Given the description of an element on the screen output the (x, y) to click on. 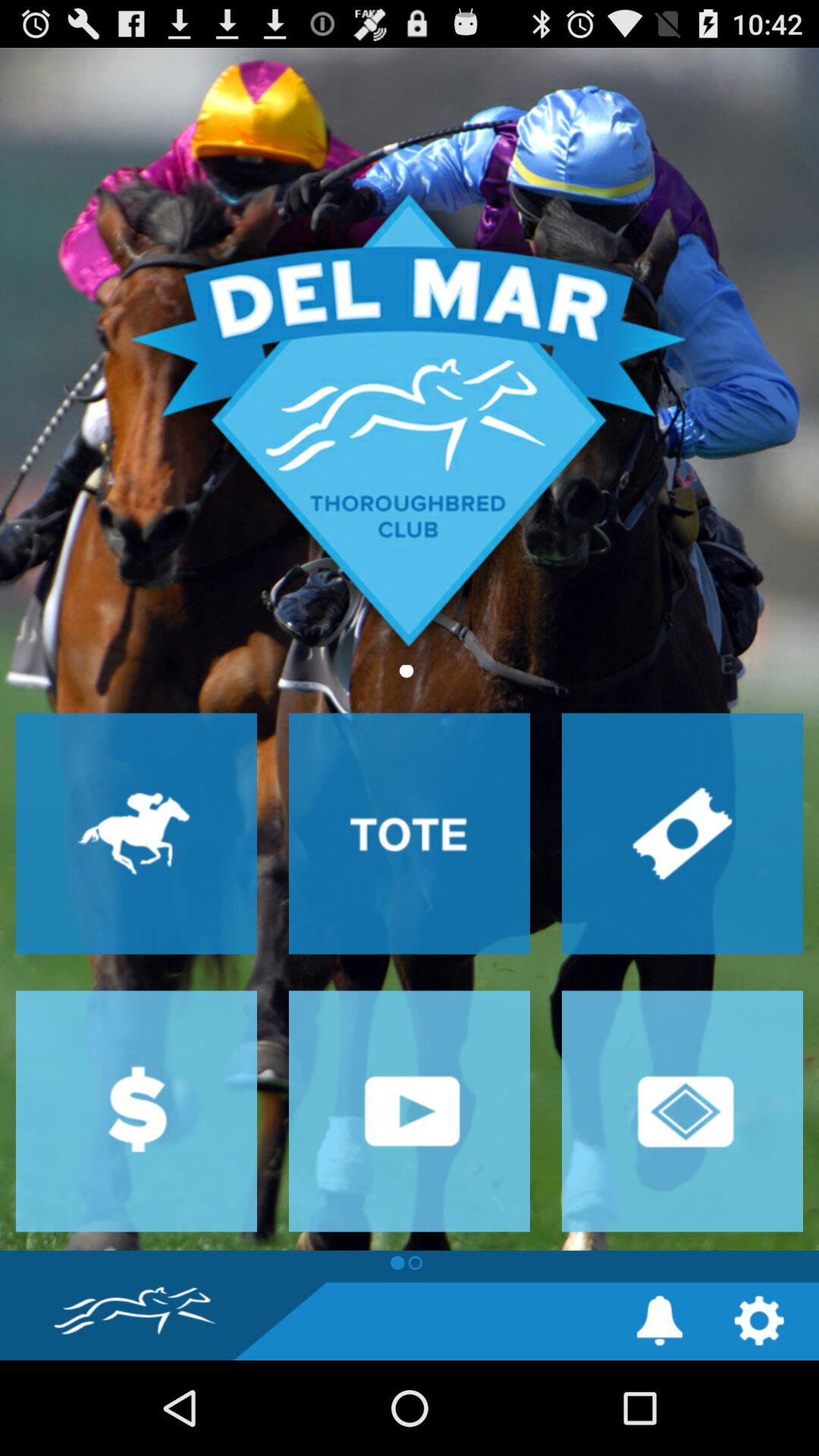
setting option (759, 1320)
